Given the description of an element on the screen output the (x, y) to click on. 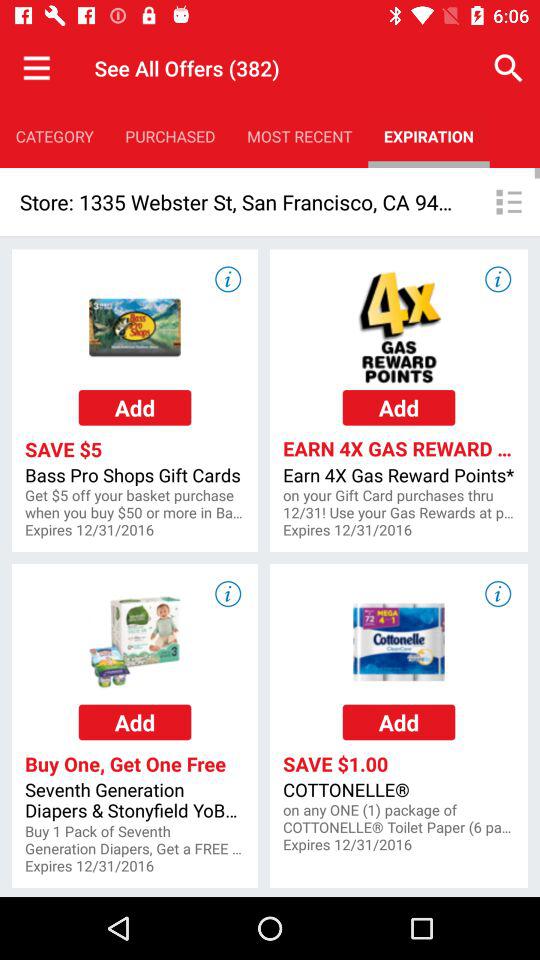
select the app to the right of seventh generation diapers item (398, 819)
